Given the description of an element on the screen output the (x, y) to click on. 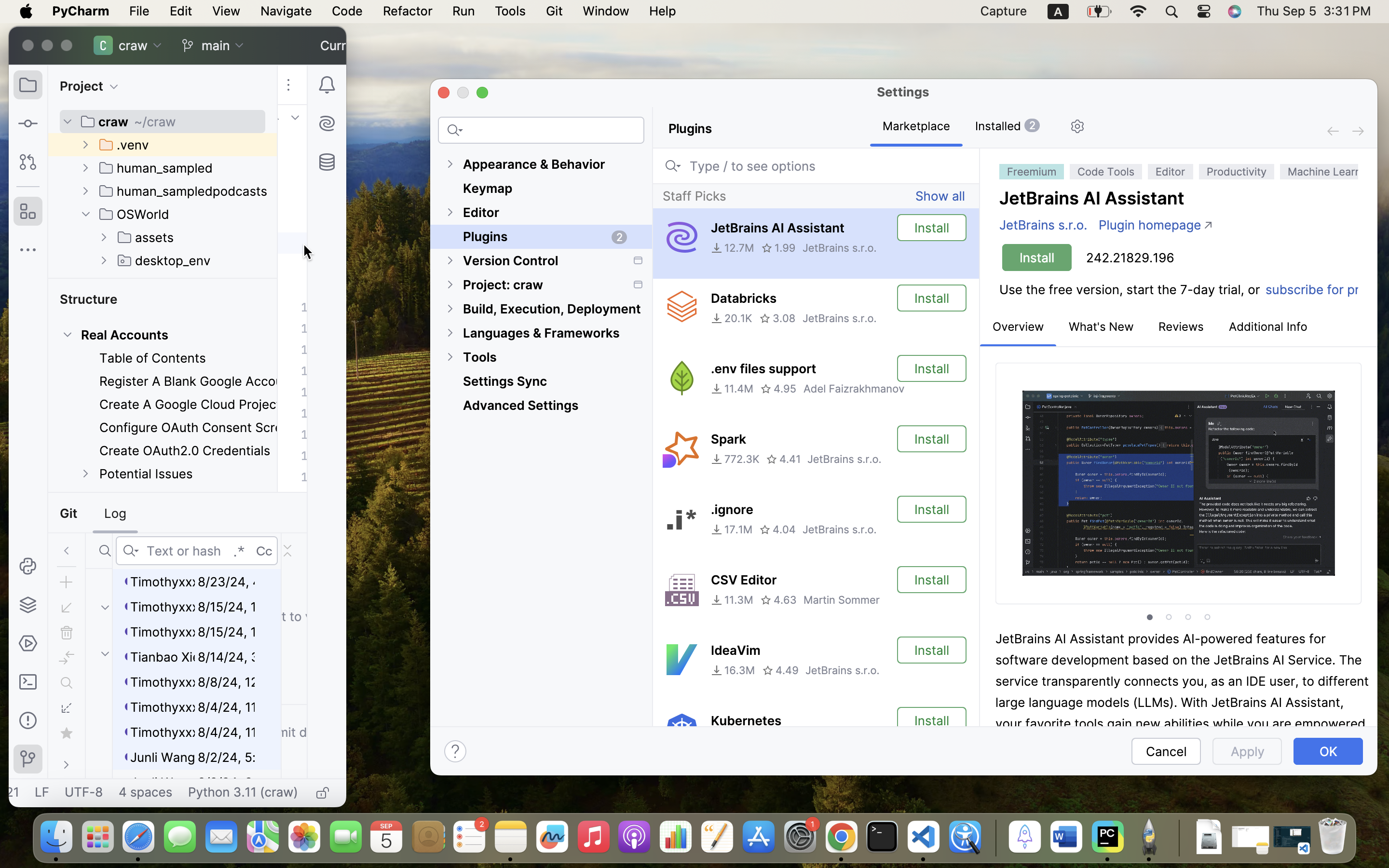
Databricks Element type: AXStaticText (743, 298)
0 Element type: AXOutline (541, 439)
Martin Sommer Element type: AXStaticText (841, 599)
4.63 Element type: AXStaticText (778, 599)
11.3M Element type: AXStaticText (731, 599)
